Given the description of an element on the screen output the (x, y) to click on. 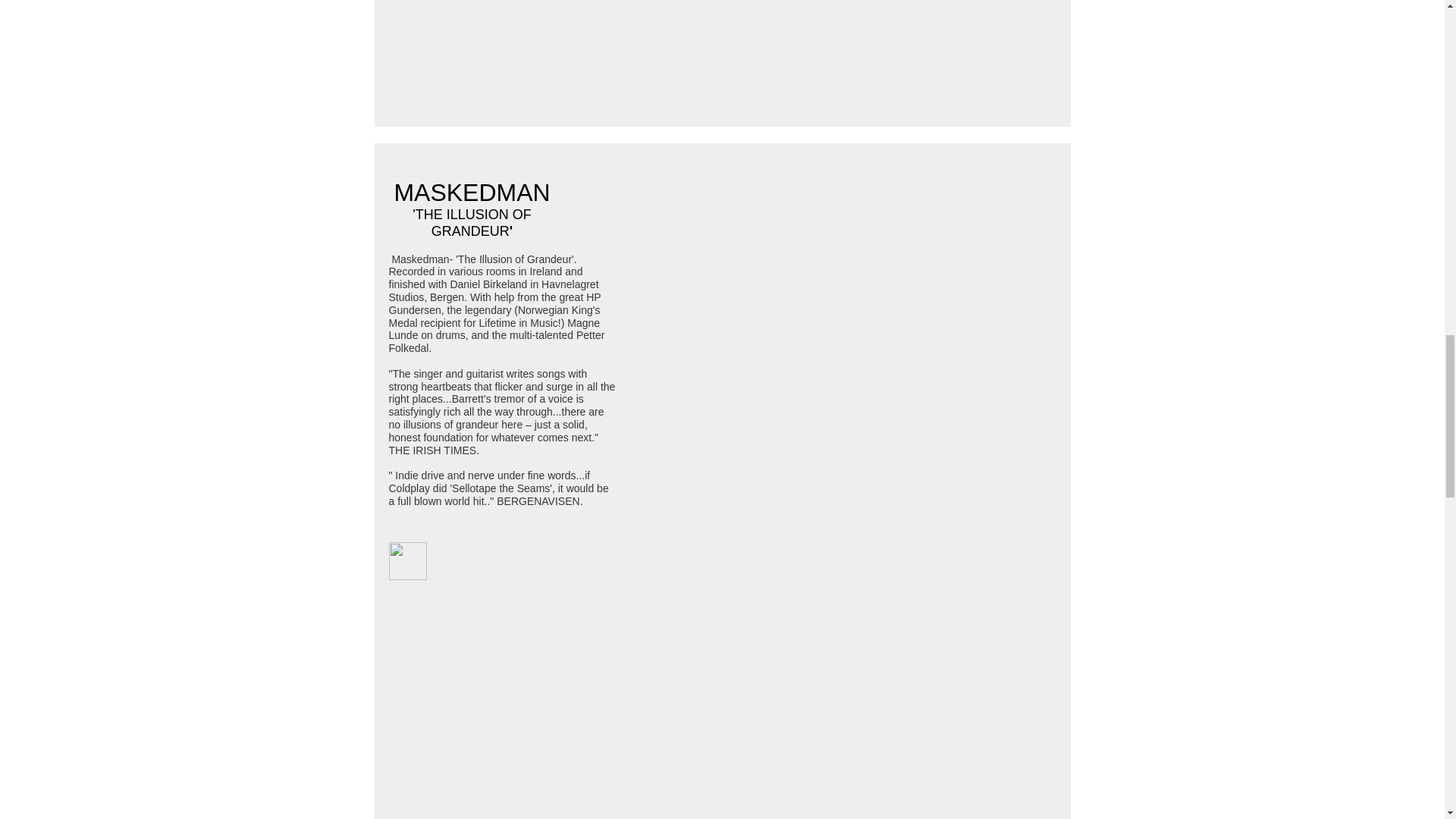
MASKEDMAN (471, 194)
'THE ILLUSION OF GRANDEUR' (471, 223)
